Given the description of an element on the screen output the (x, y) to click on. 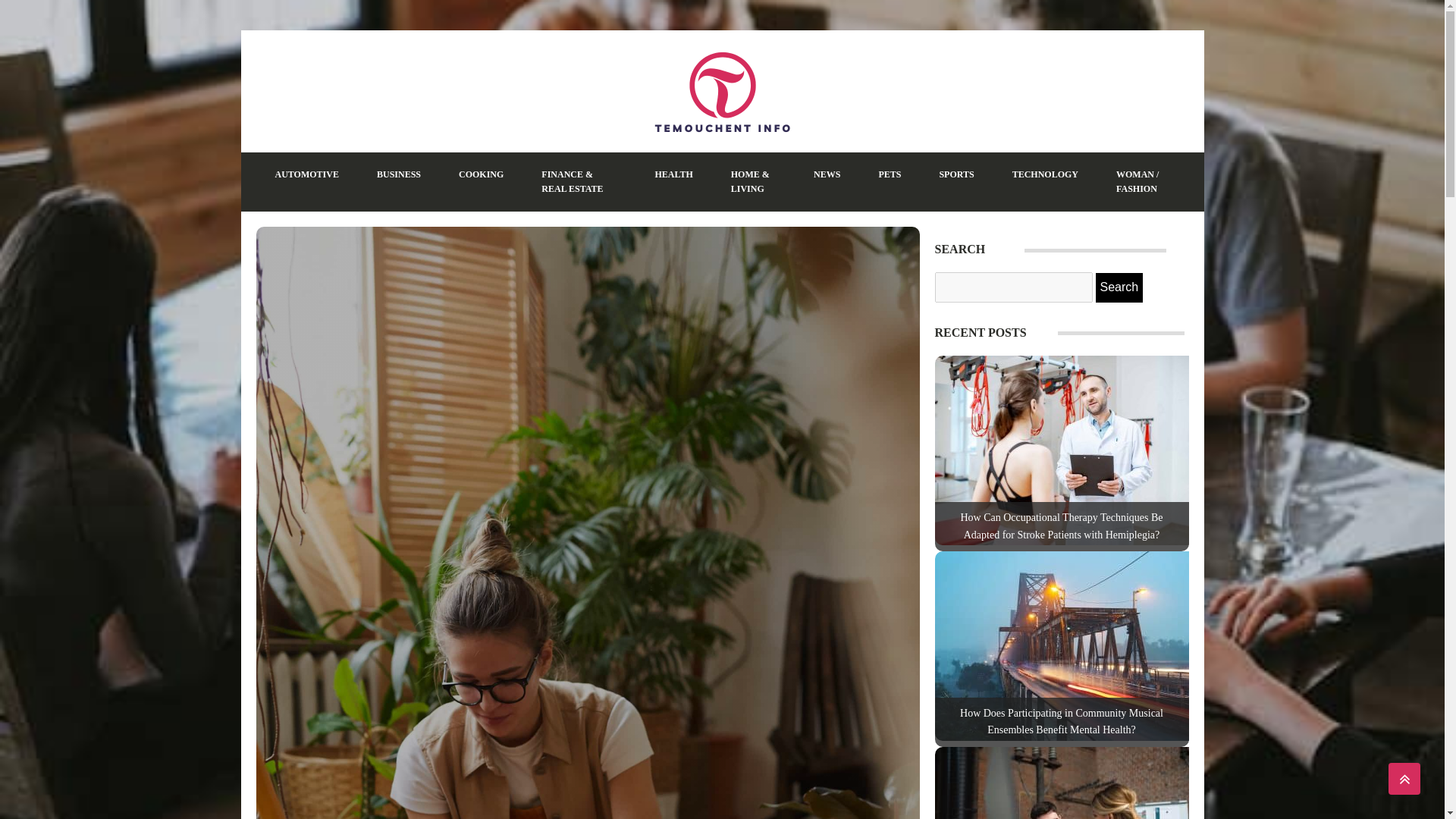
NEWS (826, 174)
PETS (889, 174)
SPORTS (956, 174)
COOKING (480, 174)
BUSINESS (398, 174)
AUTOMOTIVE (307, 174)
HEALTH (672, 174)
